Given the description of an element on the screen output the (x, y) to click on. 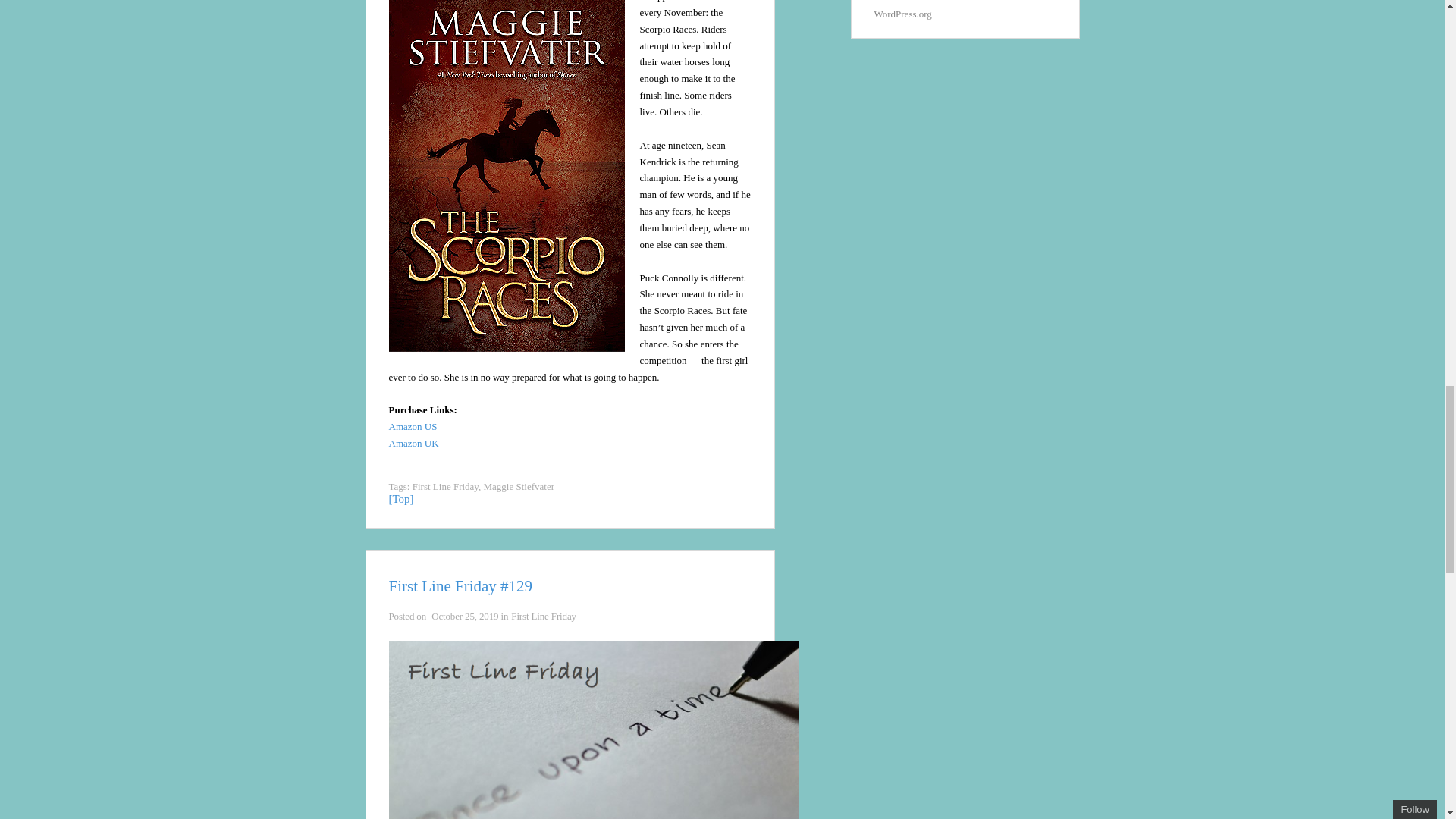
Amazon UK (413, 442)
First Line Friday (543, 615)
First Line Friday (445, 486)
Amazon US (412, 426)
Maggie Stiefvater (518, 486)
October 25, 2019 (463, 615)
